Given the description of an element on the screen output the (x, y) to click on. 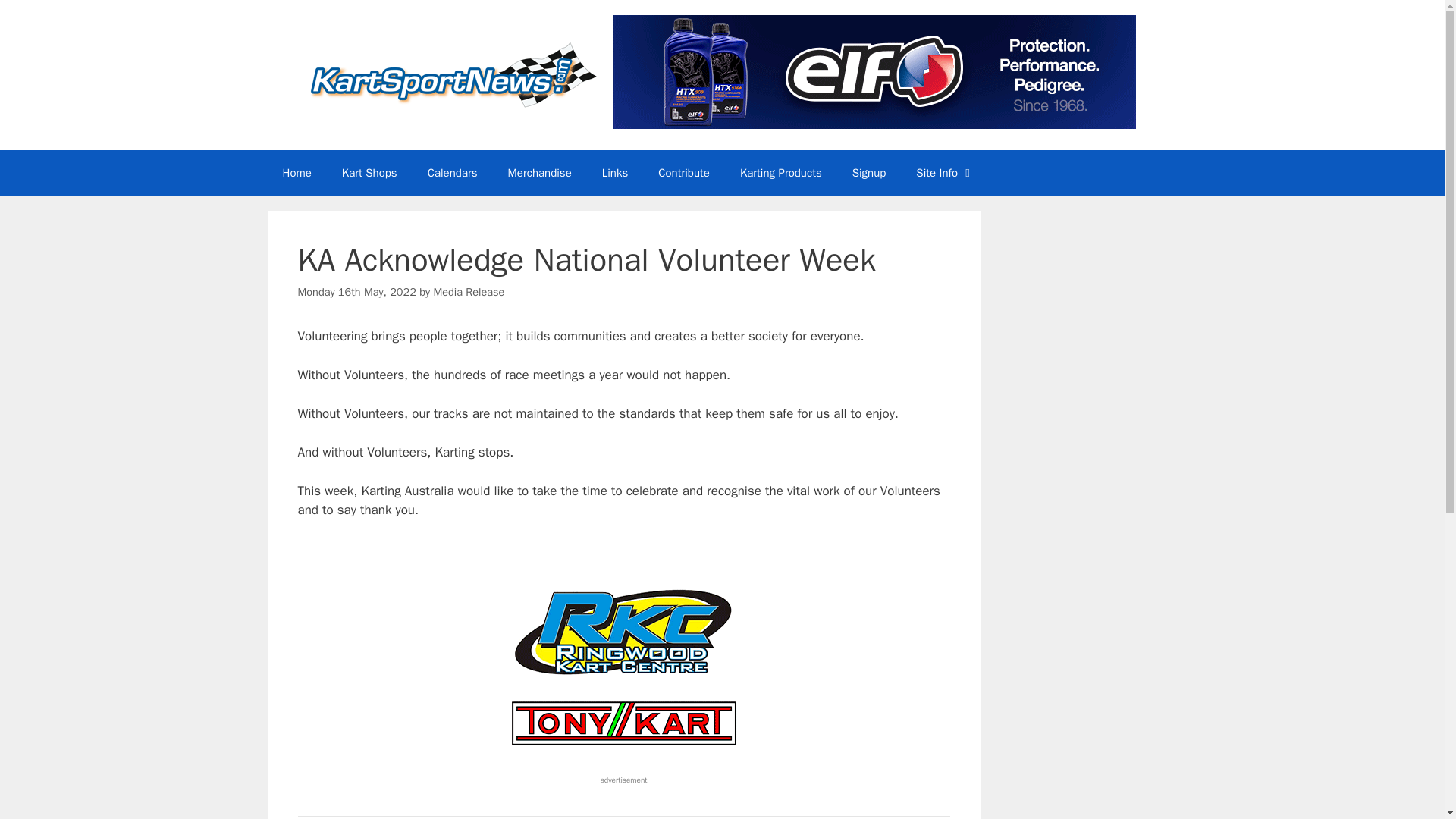
Kart Shops (369, 172)
View all posts by Media Release (467, 291)
Contribute (684, 172)
Merchandise (539, 172)
Calendars (452, 172)
Site Info (945, 172)
Home (296, 172)
Links (614, 172)
Signup (869, 172)
Karting Products (781, 172)
Media Release (467, 291)
